Given the description of an element on the screen output the (x, y) to click on. 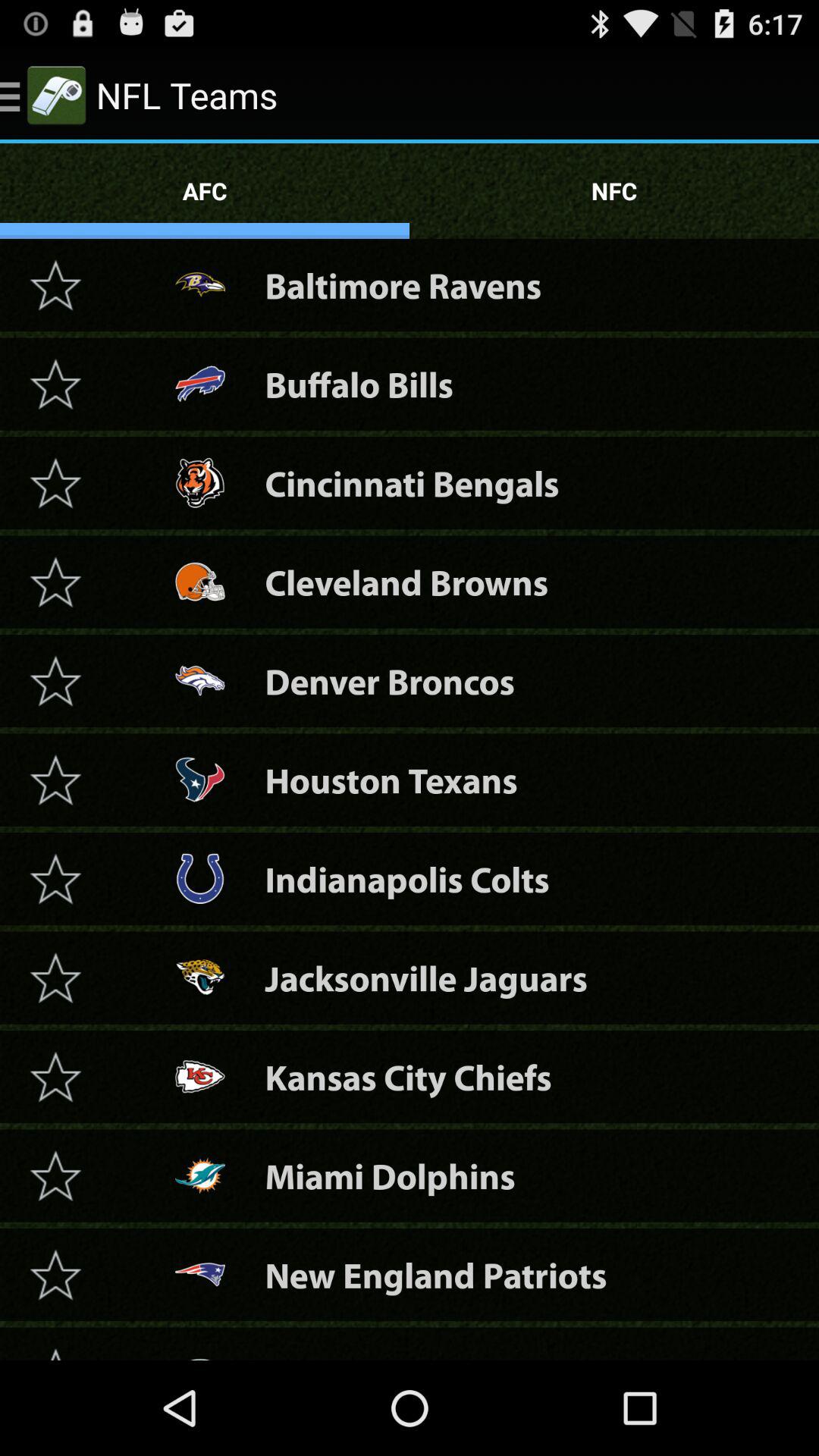
star team (55, 284)
